Given the description of an element on the screen output the (x, y) to click on. 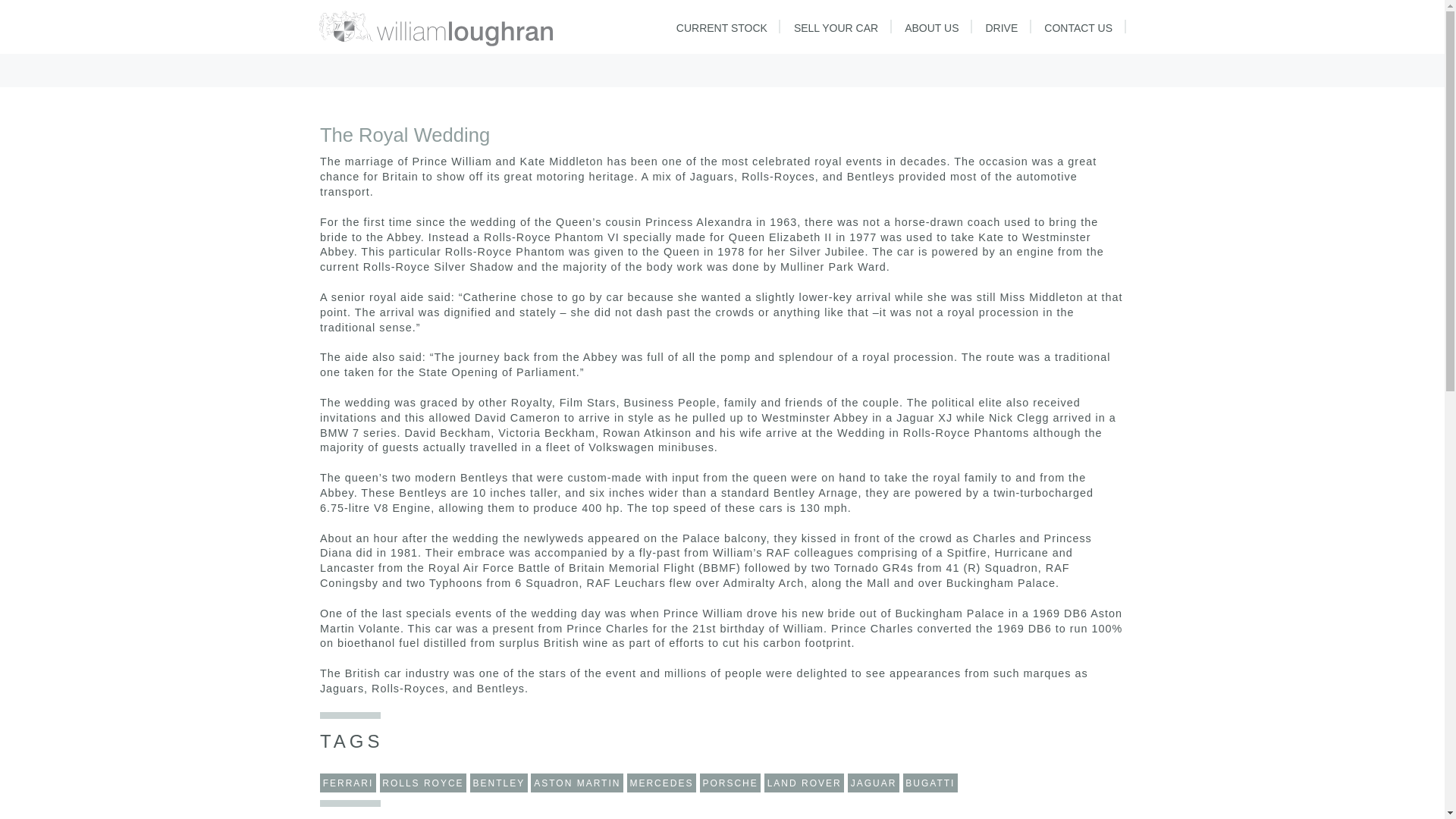
ABOUT US (931, 27)
LAND ROVER (804, 782)
ROLLS ROYCE (423, 782)
BUGATTI (930, 782)
CURRENT STOCK (721, 27)
MERCEDES (662, 782)
CONTACT US (1077, 27)
SELL YOUR CAR (835, 27)
BENTLEY (498, 782)
FERRARI (347, 782)
DRIVE (1001, 27)
PORSCHE (730, 782)
JAGUAR (873, 782)
ASTON MARTIN (577, 782)
